Given the description of an element on the screen output the (x, y) to click on. 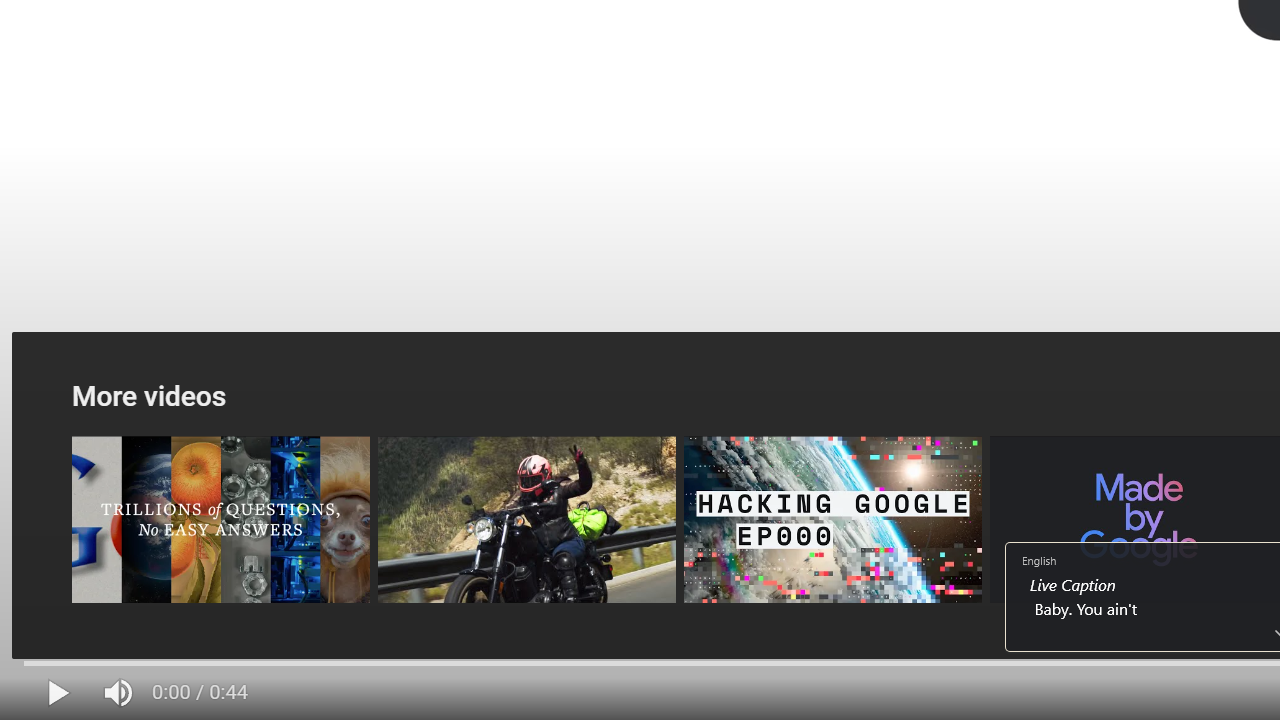
Pause keyboard shortcut k (58, 693)
Operation Aurora | HACKING GOOGLE | Documentary EP000 (832, 519)
The Guardians | SEARCH ON (526, 519)
Mute (m) (120, 693)
